Given the description of an element on the screen output the (x, y) to click on. 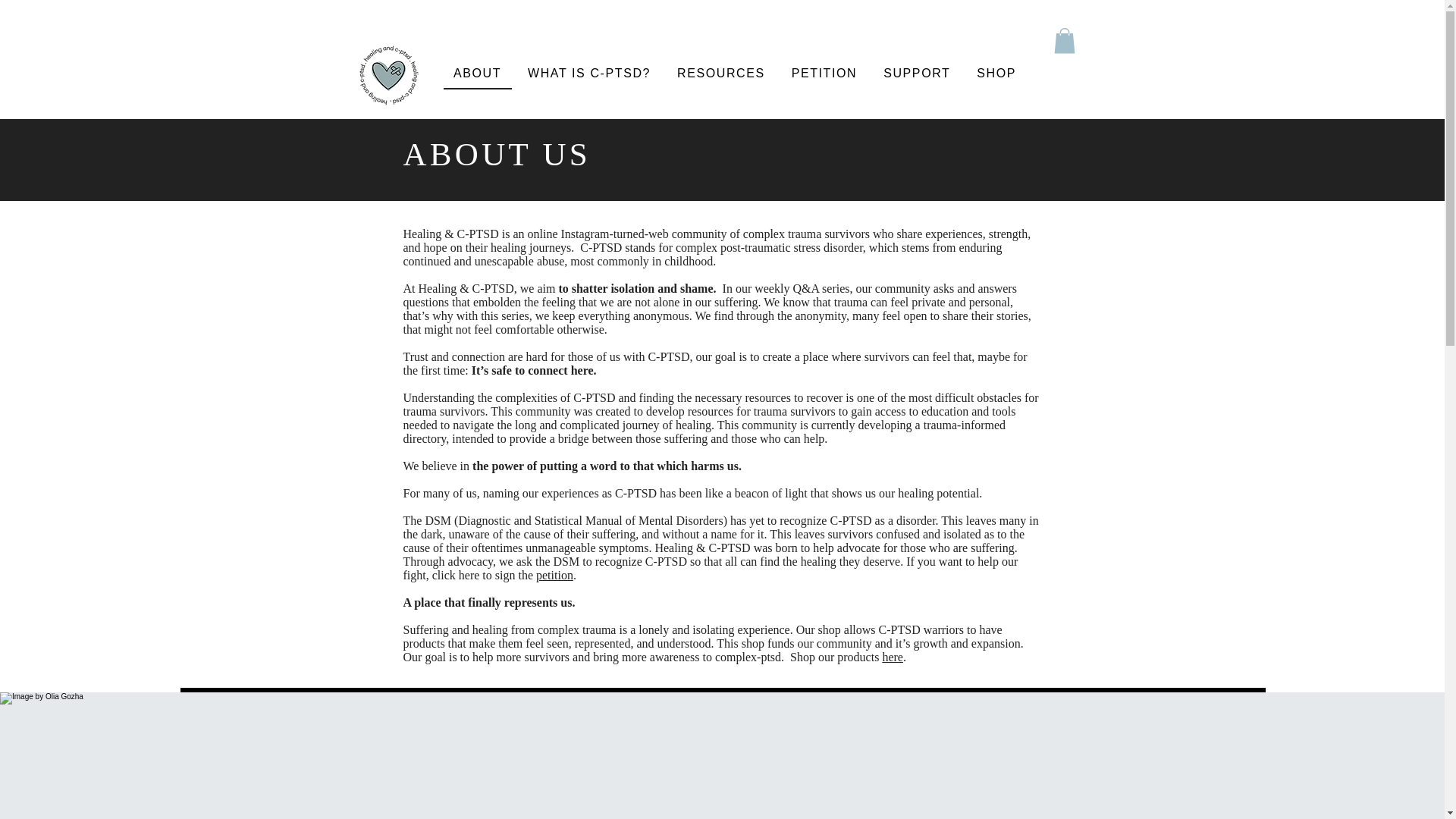
WHAT IS C-PTSD? (589, 73)
RESOURCES (721, 73)
here (892, 656)
SUPPORT (916, 73)
SHOP (996, 73)
ABOUT (476, 73)
PETITION (823, 73)
petition (554, 574)
